Given the description of an element on the screen output the (x, y) to click on. 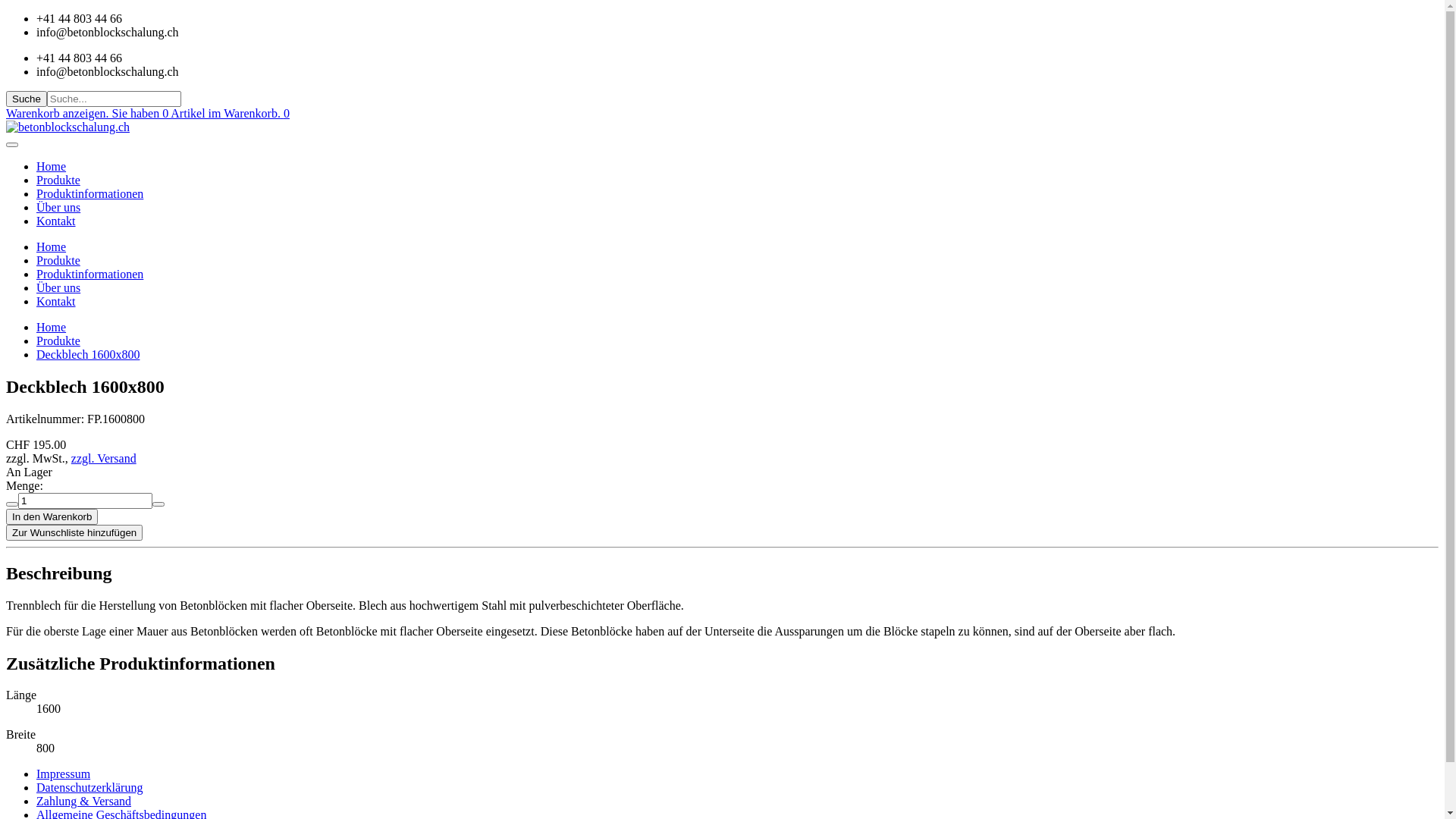
betonblockschalung.ch Element type: hover (67, 126)
In den Warenkorb Element type: text (51, 516)
Produktinformationen Element type: text (89, 193)
Impressum Element type: text (63, 773)
Deckblech 1600x800 Element type: text (87, 354)
Kontakt Element type: text (55, 220)
Warenkorb anzeigen. Sie haben 0 Artikel im Warenkorb. 0 Element type: text (147, 112)
Produkte Element type: text (58, 340)
Home Element type: text (50, 326)
Home Element type: text (50, 166)
zzgl. Versand Element type: text (103, 457)
Kontakt Element type: text (55, 300)
Produkte Element type: text (58, 179)
Suche Element type: text (26, 98)
Home Element type: text (50, 246)
Produktinformationen Element type: text (89, 273)
Produkte Element type: text (58, 260)
Zahlung & Versand Element type: text (83, 800)
